Given the description of an element on the screen output the (x, y) to click on. 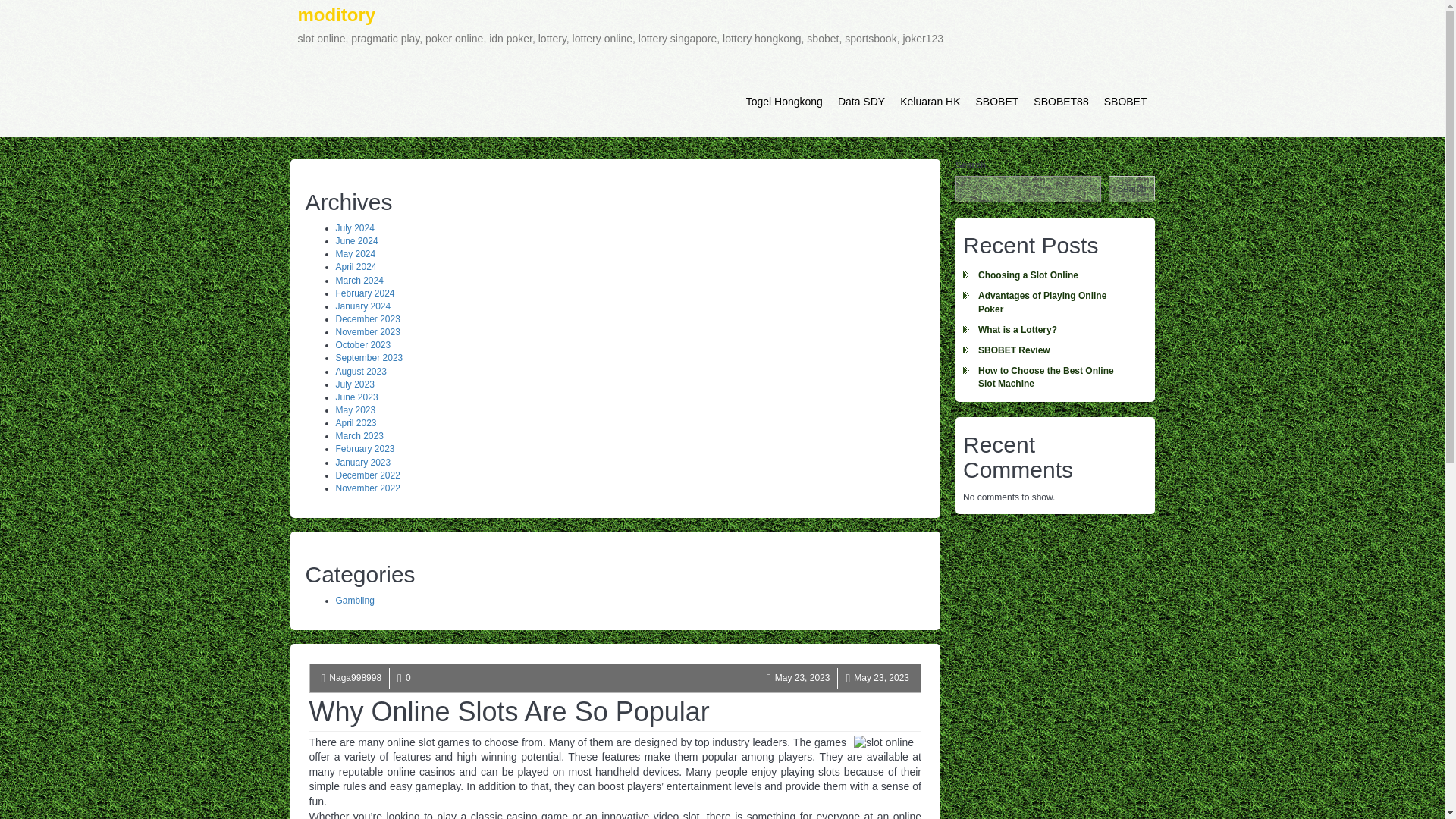
Choosing a Slot Online (1054, 275)
Advantages of Playing Online Poker (1054, 302)
July 2023 (354, 384)
Togel Hongkong (783, 101)
May 2024 (354, 253)
March 2023 (358, 435)
June 2023 (355, 397)
December 2023 (366, 318)
March 2024 (358, 280)
Search (1131, 189)
Data SDY (860, 101)
February 2024 (364, 293)
May 2023 (354, 409)
SBOBET Review (1054, 350)
